Given the description of an element on the screen output the (x, y) to click on. 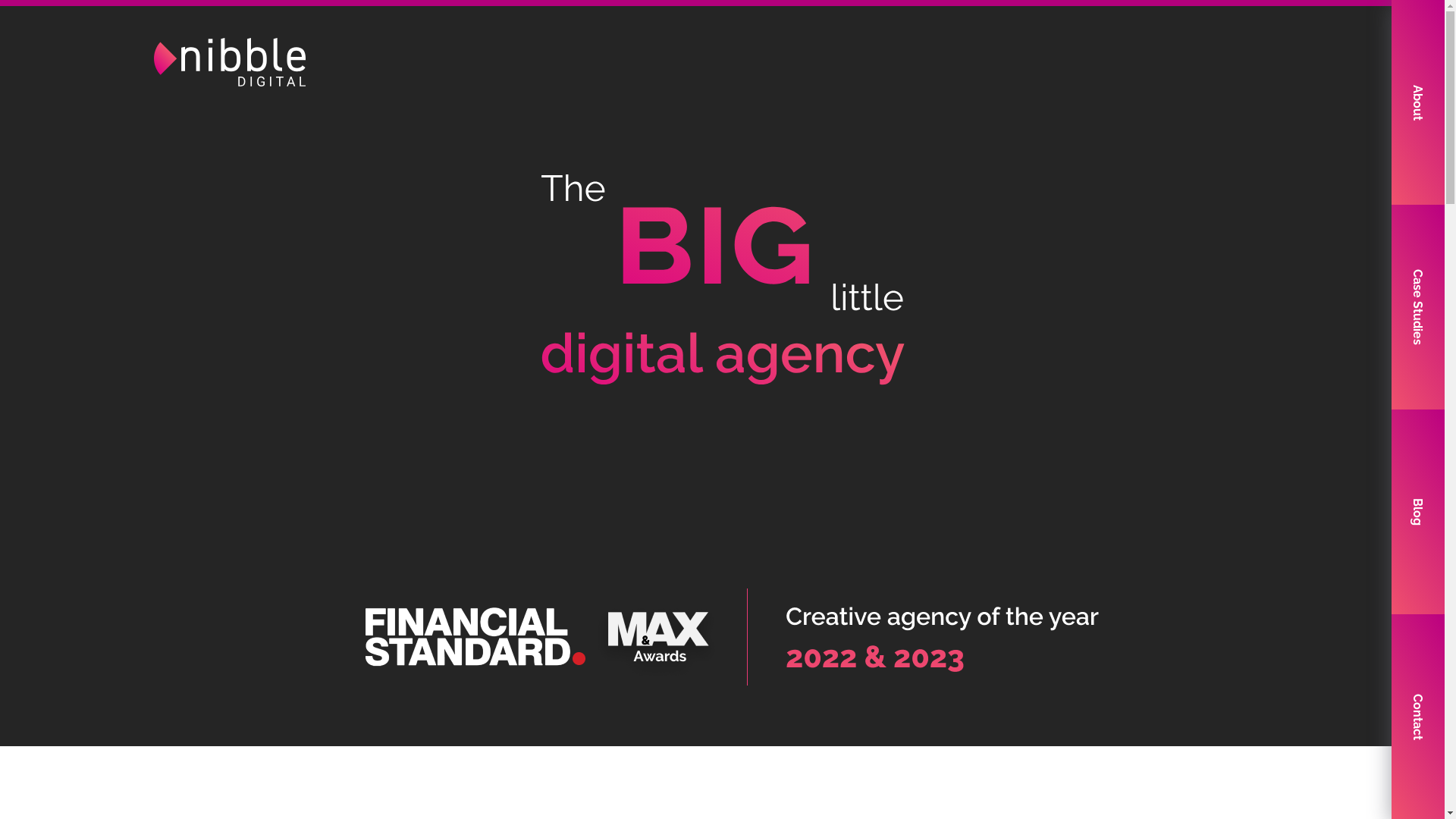
Case Studies Element type: text (1417, 306)
About Element type: text (1417, 102)
Blog Element type: text (1417, 511)
